Given the description of an element on the screen output the (x, y) to click on. 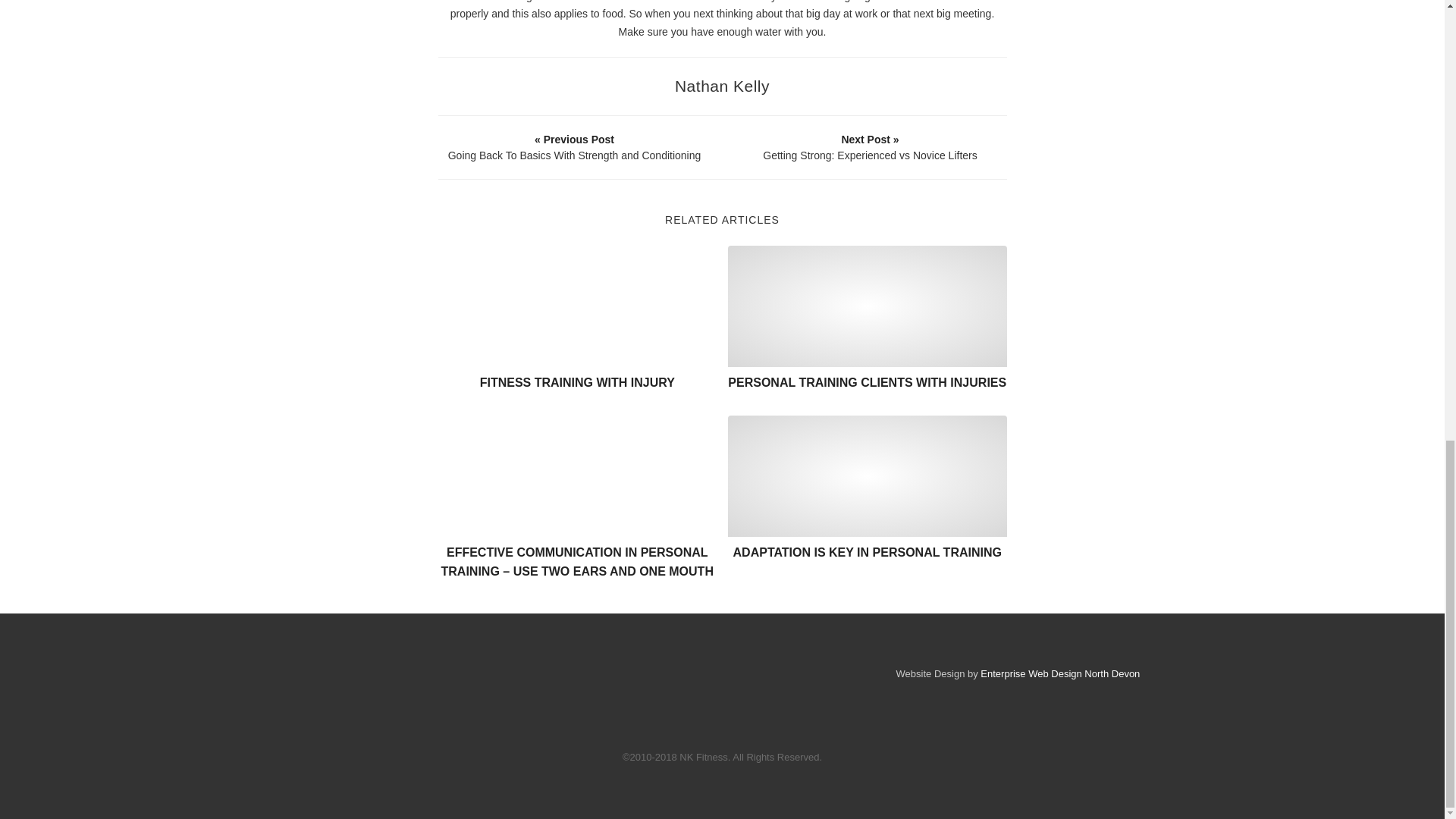
Getting Strong: Experienced vs Novice Lifters (869, 147)
Fitness Training with Injury (577, 305)
Personal training clients with Injuries (867, 305)
FITNESS TRAINING WITH INJURY (577, 382)
ADAPTATION IS KEY IN PERSONAL TRAINING (867, 552)
Enterprise Web Design North Devon (1059, 673)
Adaptation is key in personal training (867, 476)
PERSONAL TRAINING CLIENTS WITH INJURIES (867, 382)
Nathan Kelly (722, 85)
Going Back To Basics With Strength and Conditioning (574, 147)
